Given the description of an element on the screen output the (x, y) to click on. 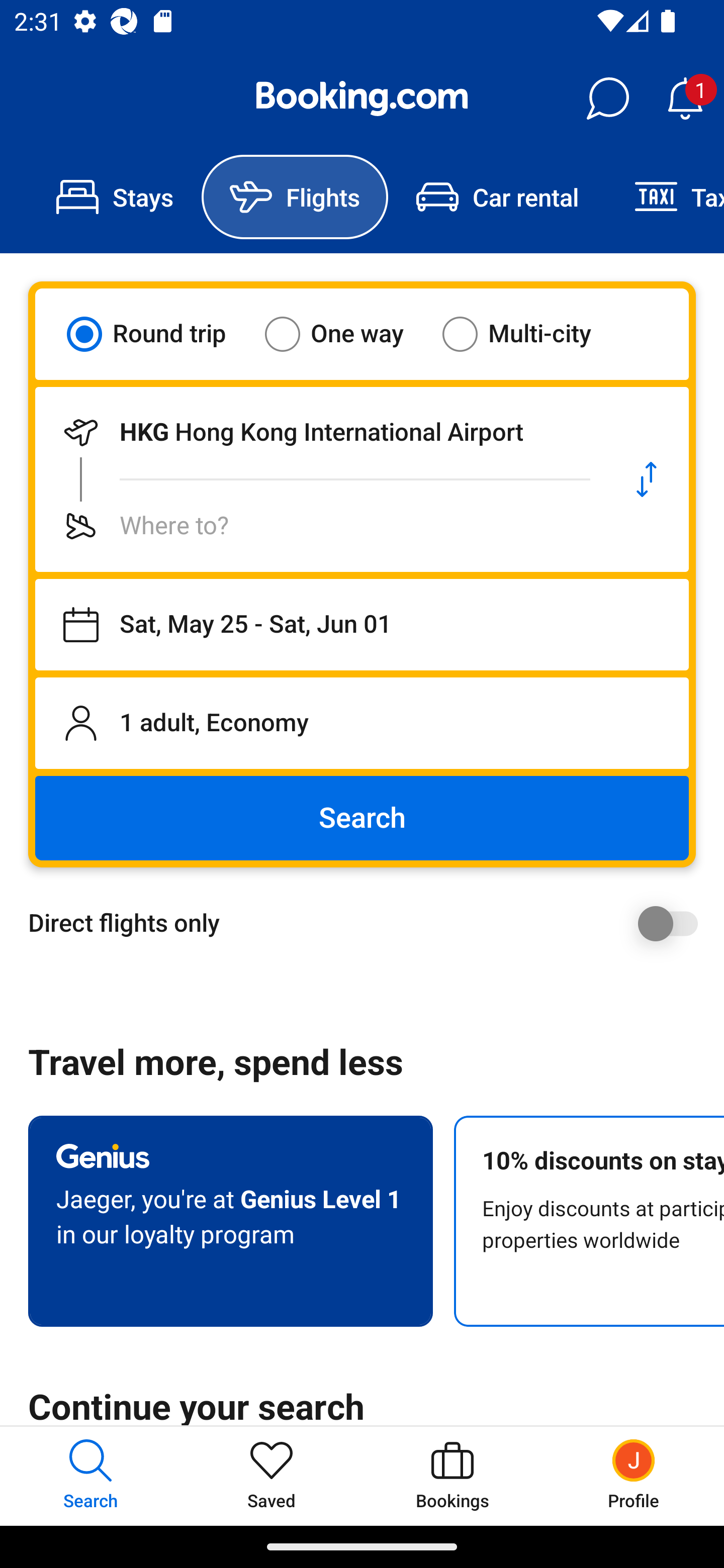
Messages (607, 98)
Notifications (685, 98)
Stays (114, 197)
Flights (294, 197)
Car rental (497, 197)
Taxi (665, 197)
One way (346, 333)
Multi-city (528, 333)
Departing from HKG Hong Kong International Airport (319, 432)
Swap departure location and destination (646, 479)
Flying to  (319, 525)
Departing on Sat, May 25, returning on Sat, Jun 01 (361, 624)
1 adult, Economy (361, 722)
Search (361, 818)
Direct flights only (369, 923)
Saved (271, 1475)
Bookings (452, 1475)
Profile (633, 1475)
